Given the description of an element on the screen output the (x, y) to click on. 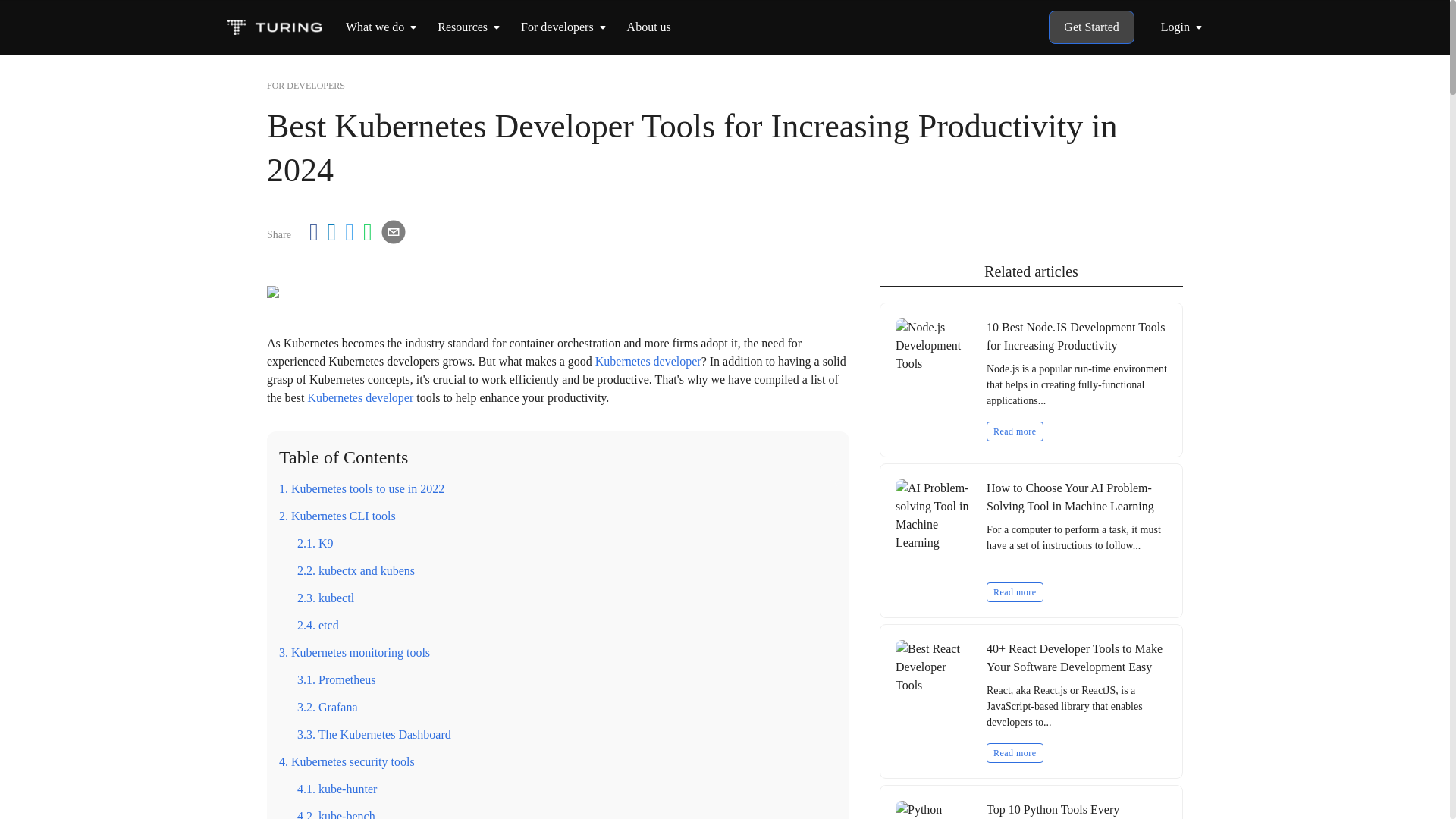
What we do (375, 26)
Login (1185, 26)
Resources (462, 26)
Get Started (1091, 27)
About us (649, 26)
For developers (557, 26)
